Given the description of an element on the screen output the (x, y) to click on. 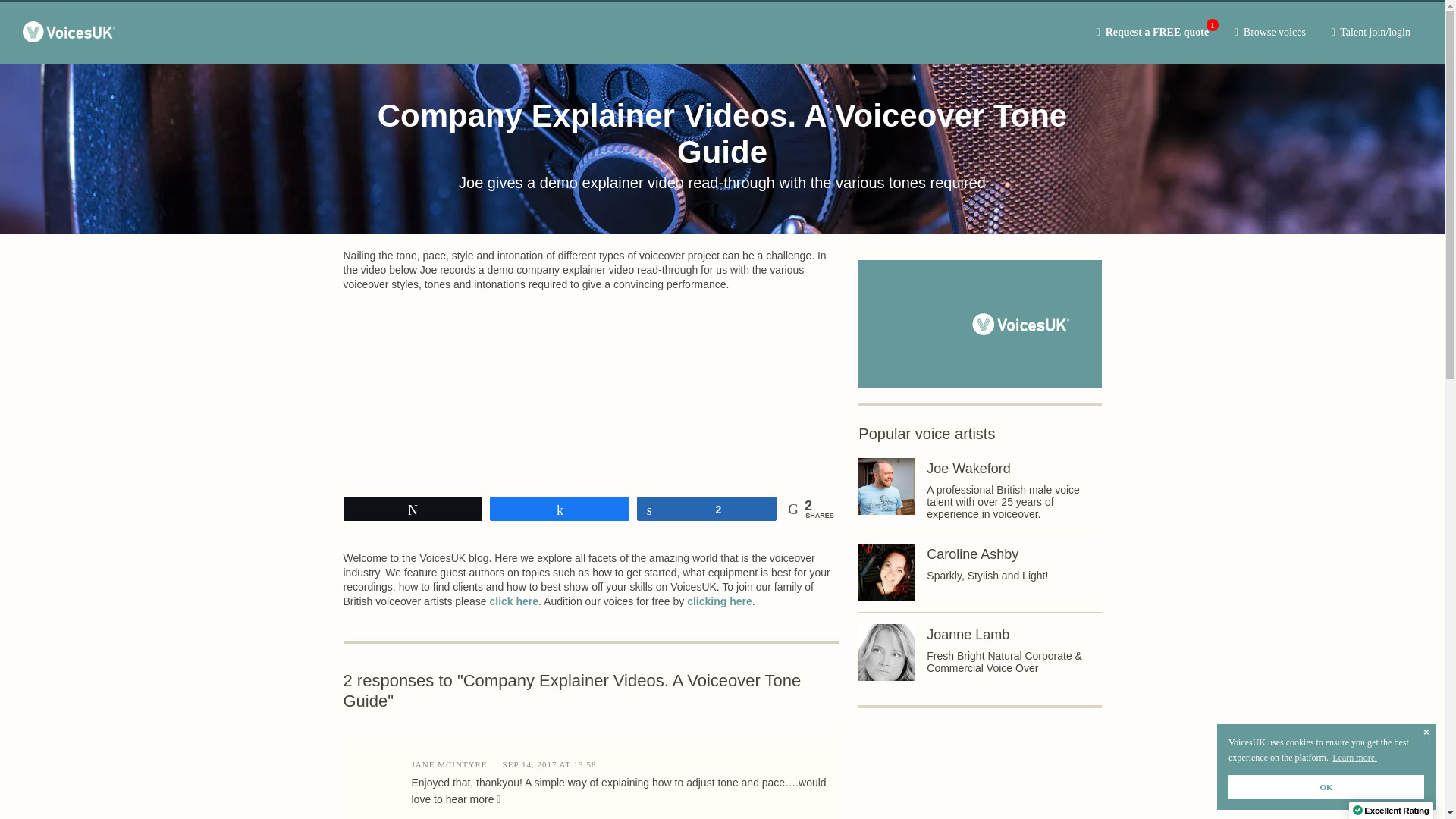
View our British voiceover talent (1270, 31)
OK (1325, 786)
Login or register as a voice artist (1370, 31)
Learn more. (1354, 757)
Joe Wakeford (968, 468)
Caroline Ashby (971, 554)
Join as talent (513, 601)
2 (706, 508)
  Browse voices (1270, 31)
click here (513, 601)
Post a free audition request (1152, 31)
Sparkly, Stylish and Light! (1152, 31)
clicking here (987, 575)
